Given the description of an element on the screen output the (x, y) to click on. 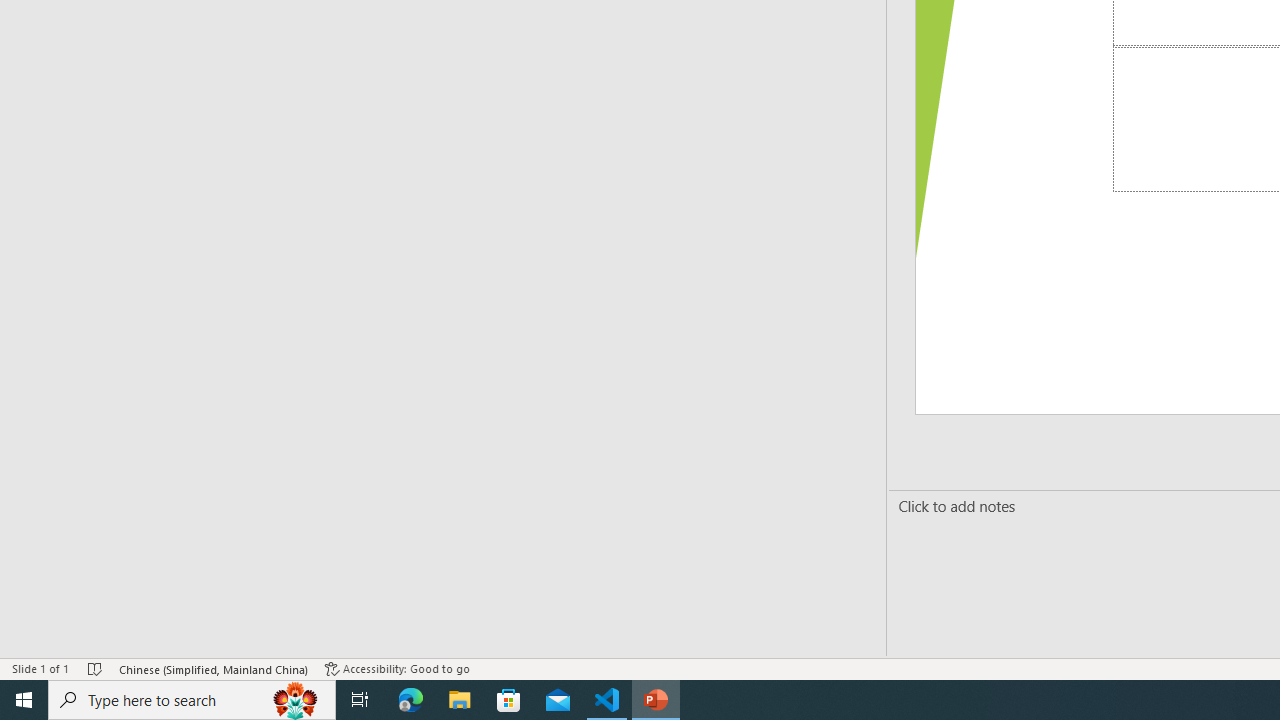
Accessibility Checker Accessibility: Good to go (397, 668)
